Given the description of an element on the screen output the (x, y) to click on. 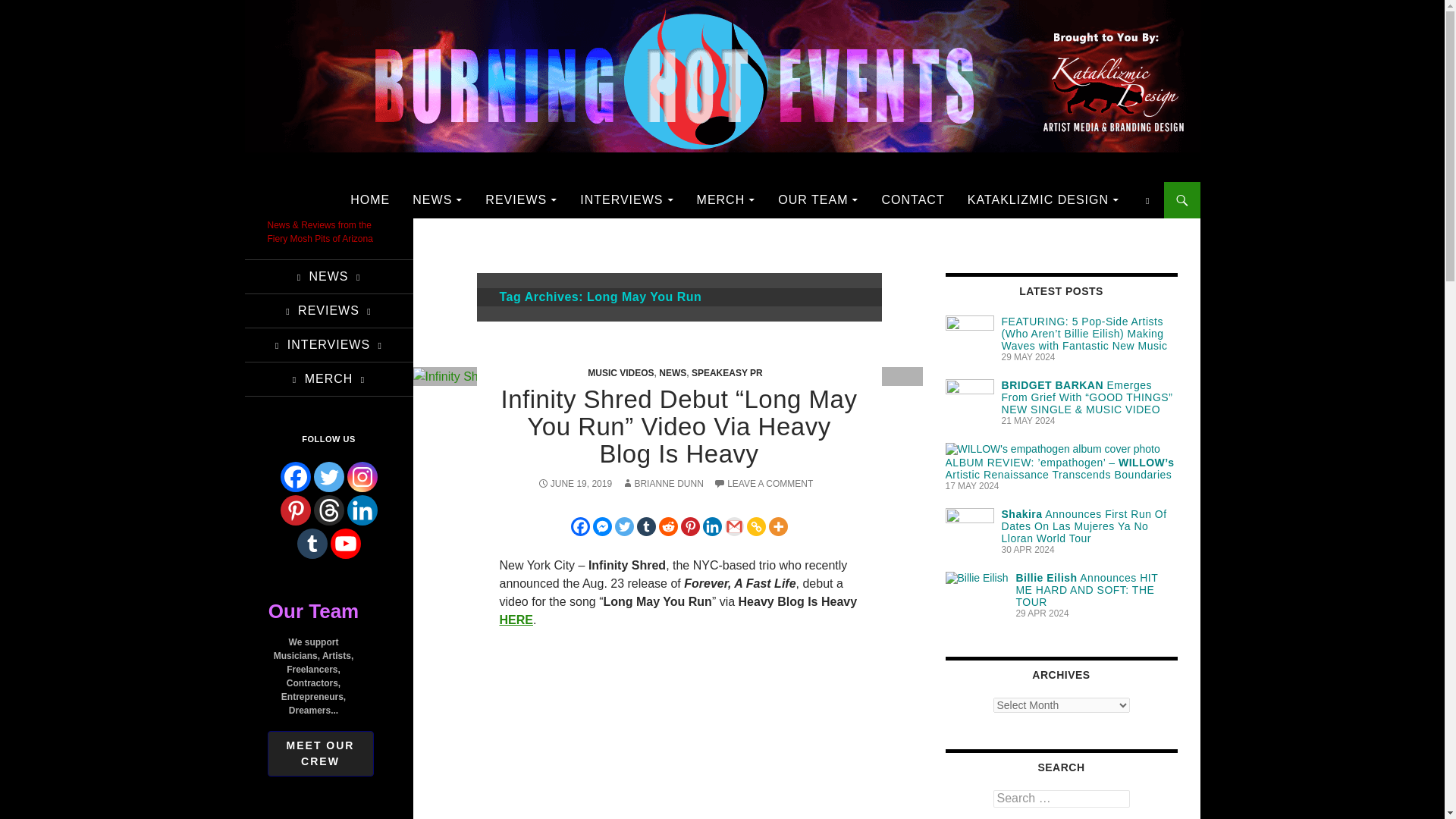
Facebook (296, 476)
Linkedin Company (362, 510)
Twitter (328, 476)
MERCH (725, 199)
Copy Link (755, 526)
Pinterest (296, 510)
Tumblr (646, 526)
Pinterest (690, 526)
HOME (368, 199)
OUR TEAM (817, 199)
Instagram (362, 476)
Reddit (667, 526)
More (777, 526)
